Given the description of an element on the screen output the (x, y) to click on. 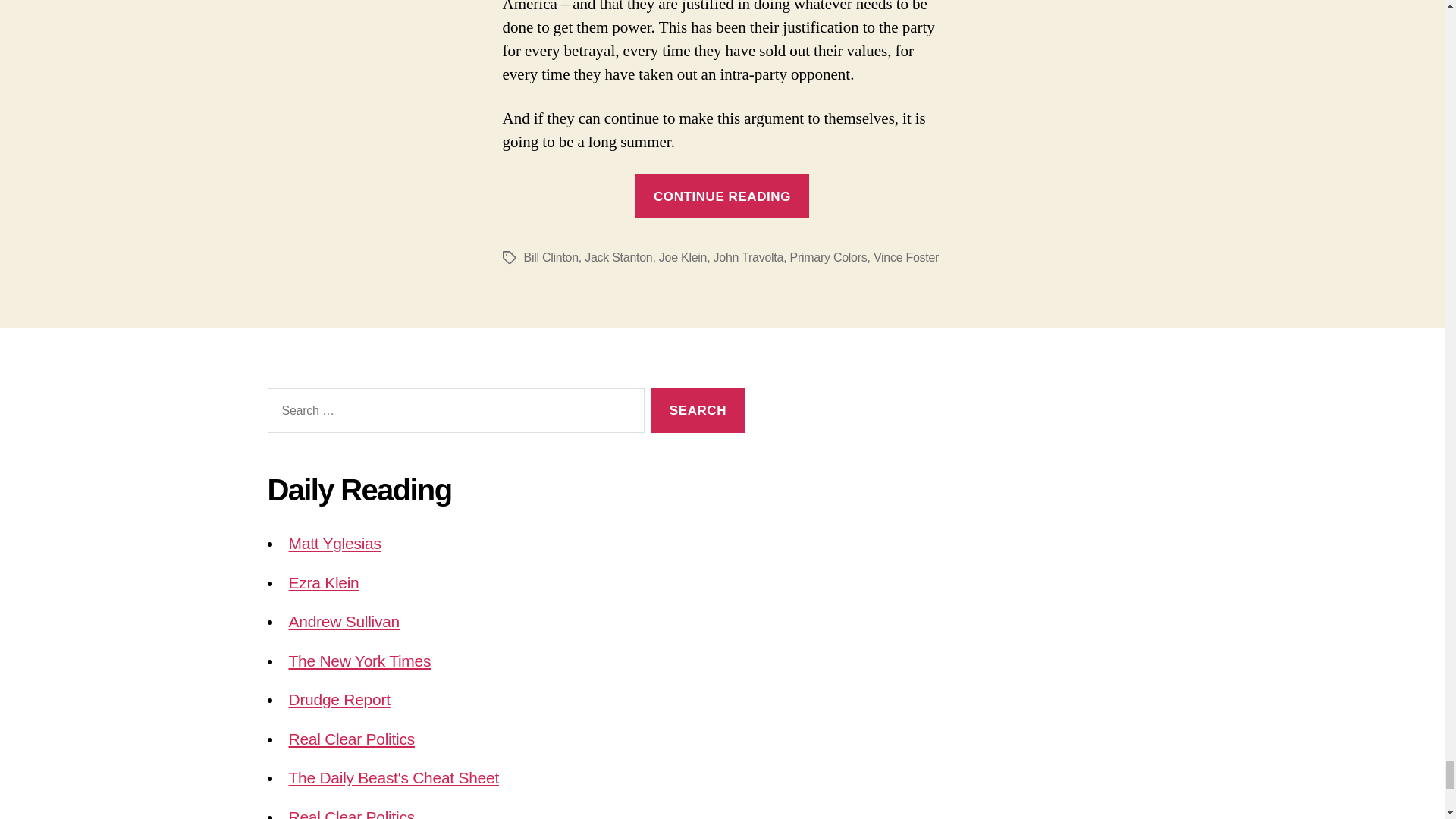
Search (697, 410)
Search (697, 410)
